Given the description of an element on the screen output the (x, y) to click on. 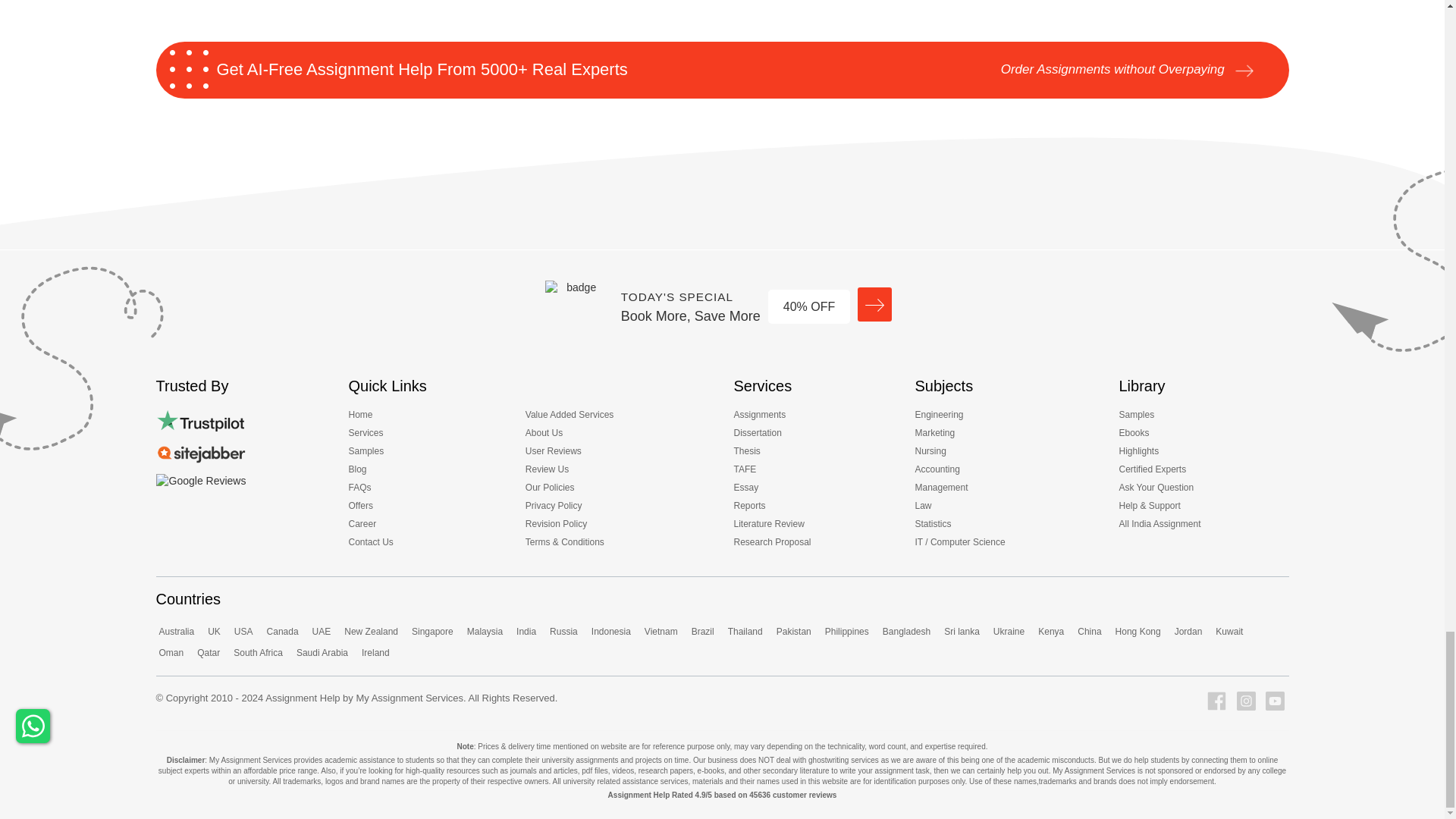
Dissertation Writing Help (761, 435)
